Given the description of an element on the screen output the (x, y) to click on. 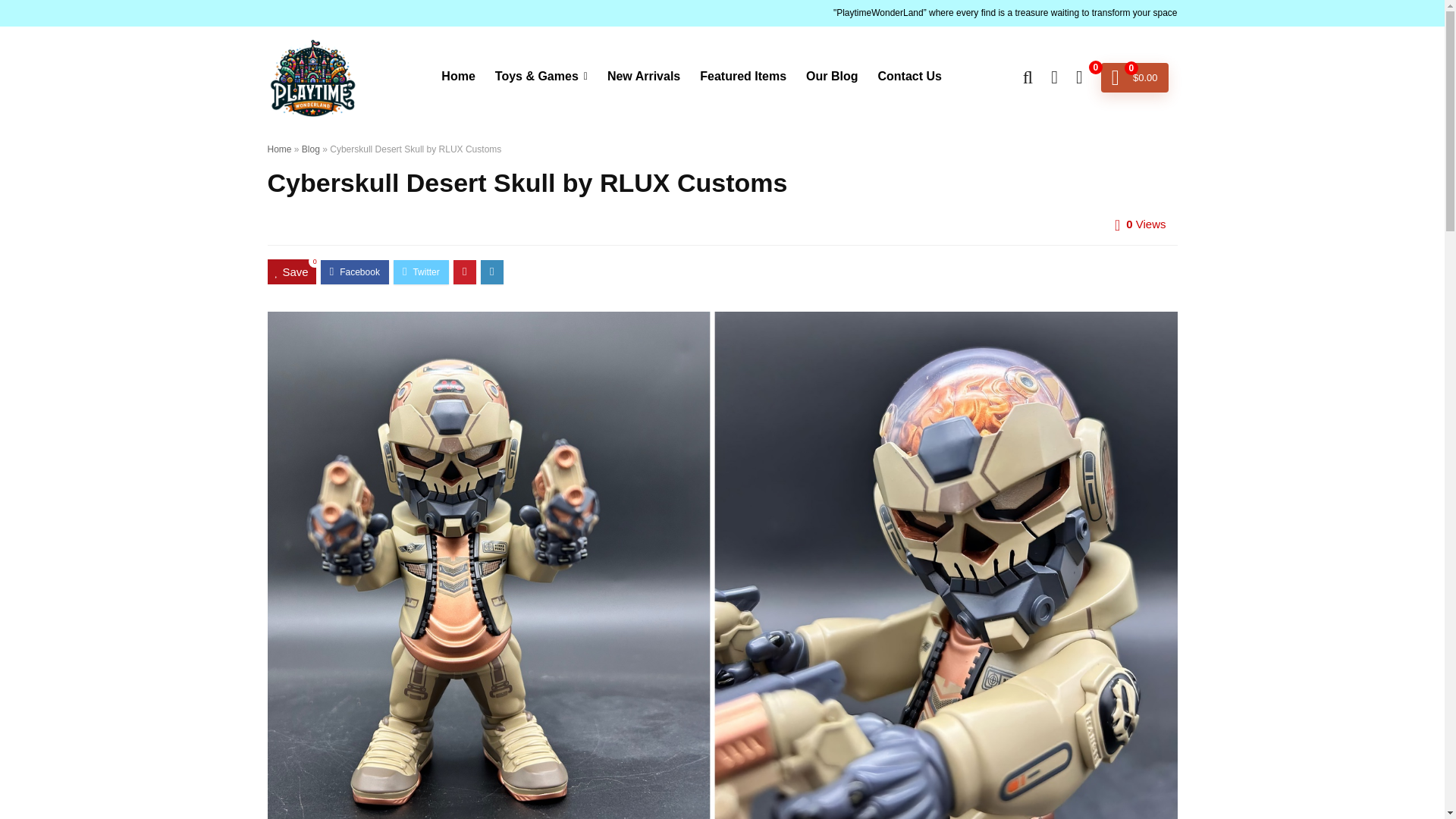
New Arrivals (643, 77)
Home (457, 77)
Blog (310, 149)
Our Blog (831, 77)
Featured Items (743, 77)
Contact Us (908, 77)
Home (278, 149)
